Given the description of an element on the screen output the (x, y) to click on. 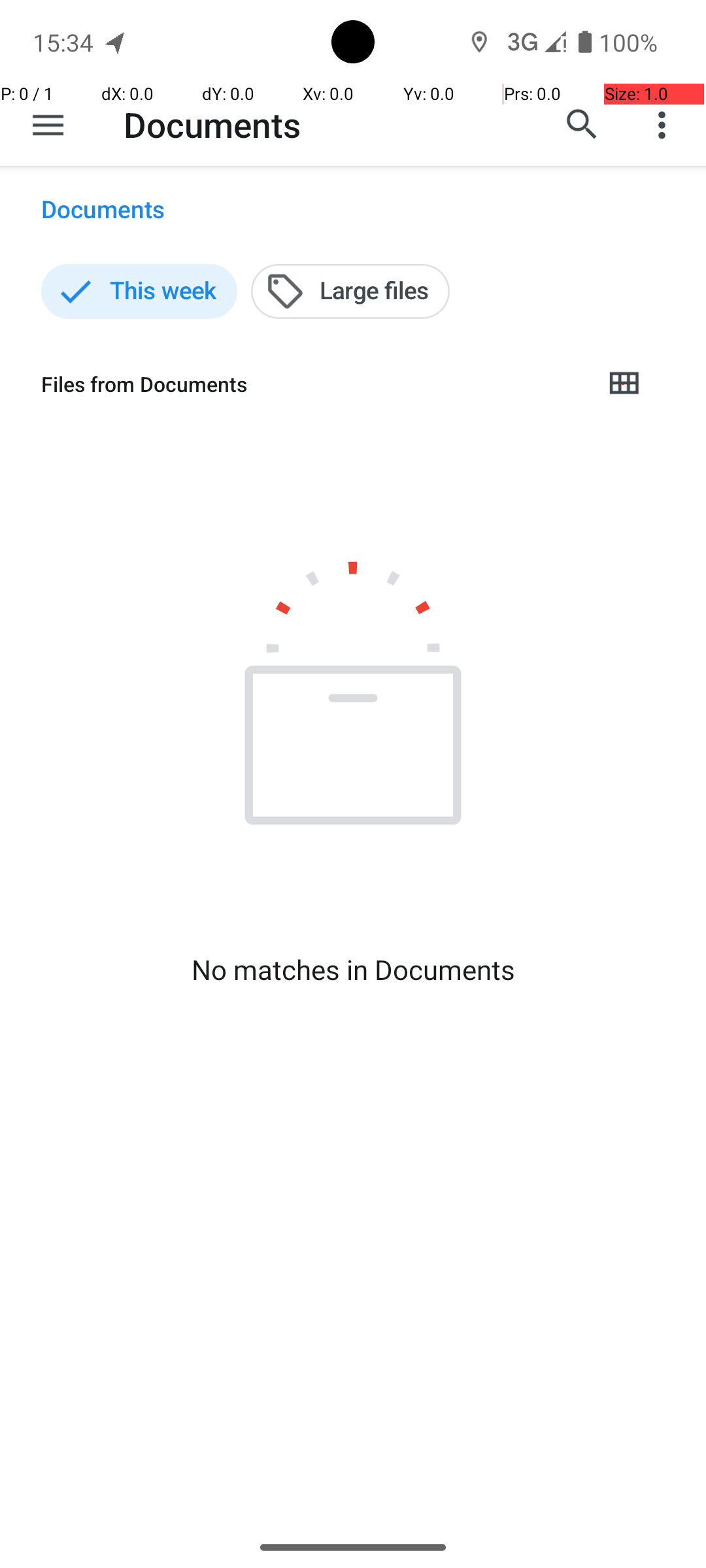
Files from Documents Element type: android.widget.TextView (311, 383)
No matches in Documents Element type: android.widget.TextView (353, 968)
